Given the description of an element on the screen output the (x, y) to click on. 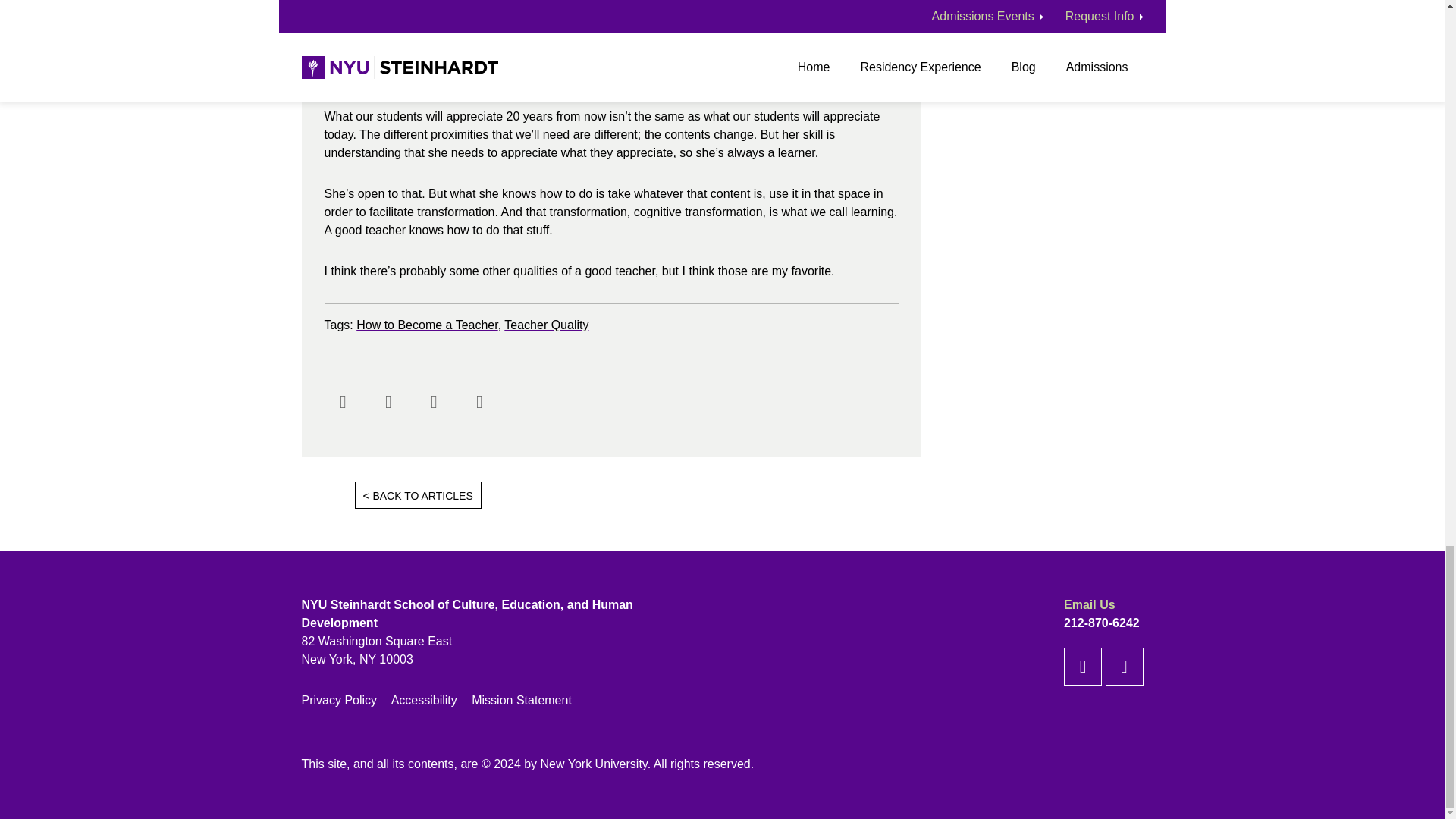
Link back to blog page (638, 495)
Mission Statement (521, 699)
Accessibility (424, 699)
Share on Linkedin (433, 401)
Send us email (480, 401)
Follow us on Facebook (1083, 666)
Privacy Policy (339, 699)
How to Become a Teacher (426, 324)
Teacher Quality (545, 324)
Share on Twitter (388, 401)
